Given the description of an element on the screen output the (x, y) to click on. 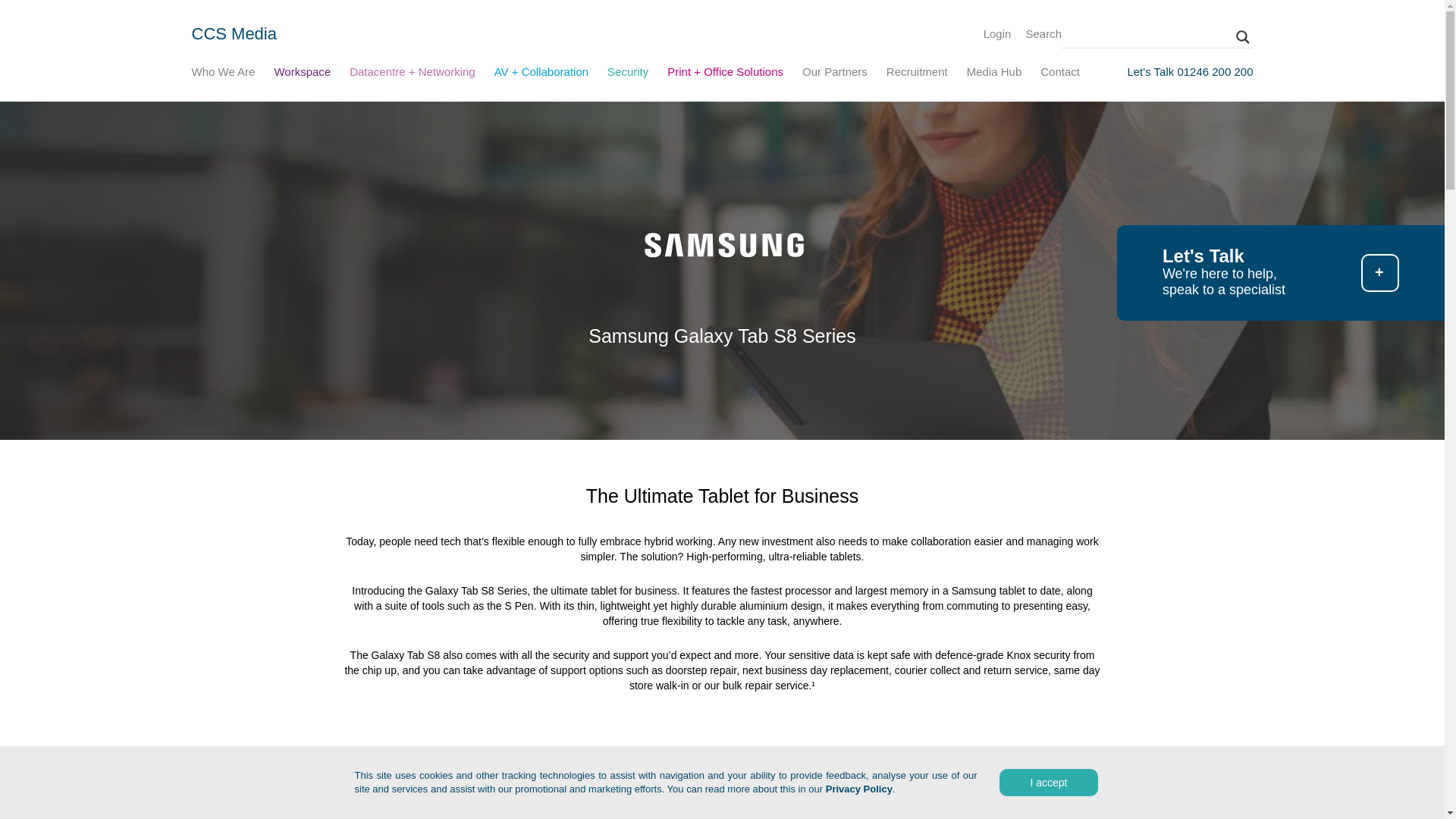
Who We Are (222, 73)
CCS Media (233, 33)
Media Hub (994, 73)
Our Partners (834, 73)
Security (627, 73)
Login (997, 33)
Workspace (301, 73)
Recruitment (916, 73)
